Given the description of an element on the screen output the (x, y) to click on. 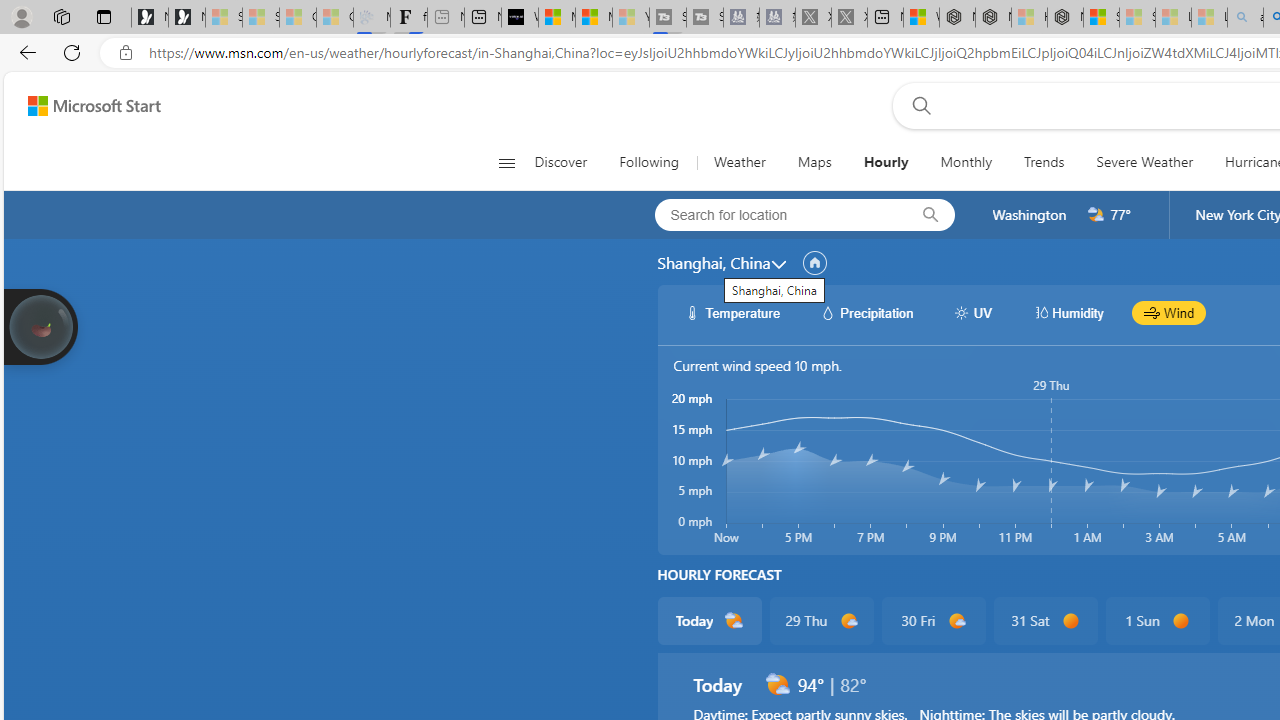
n2000 (1096, 215)
Monthly (966, 162)
locationBar/search (930, 215)
d2000 (777, 684)
common/carouselChevron (778, 264)
1 Sun d0000 (1156, 620)
hourlyChart/temperatureWhite (692, 312)
Severe Weather (1144, 162)
Nordace - Nordace Siena Is Not An Ordinary Backpack (1065, 17)
Trends (1044, 162)
